Given the description of an element on the screen output the (x, y) to click on. 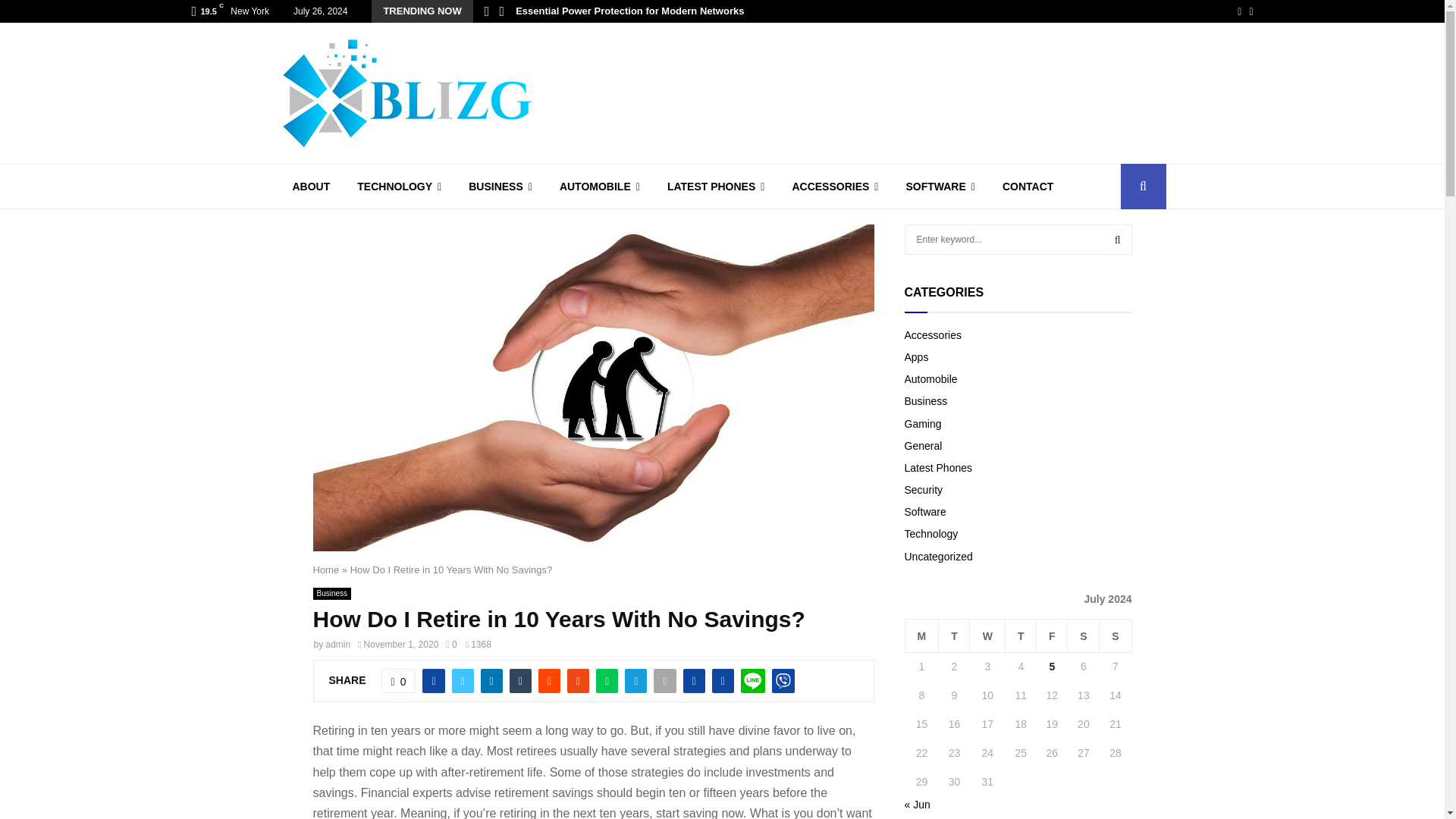
Essential Power Protection for Modern Networks (629, 10)
TECHNOLOGY (398, 186)
ABOUT (311, 186)
